Given the description of an element on the screen output the (x, y) to click on. 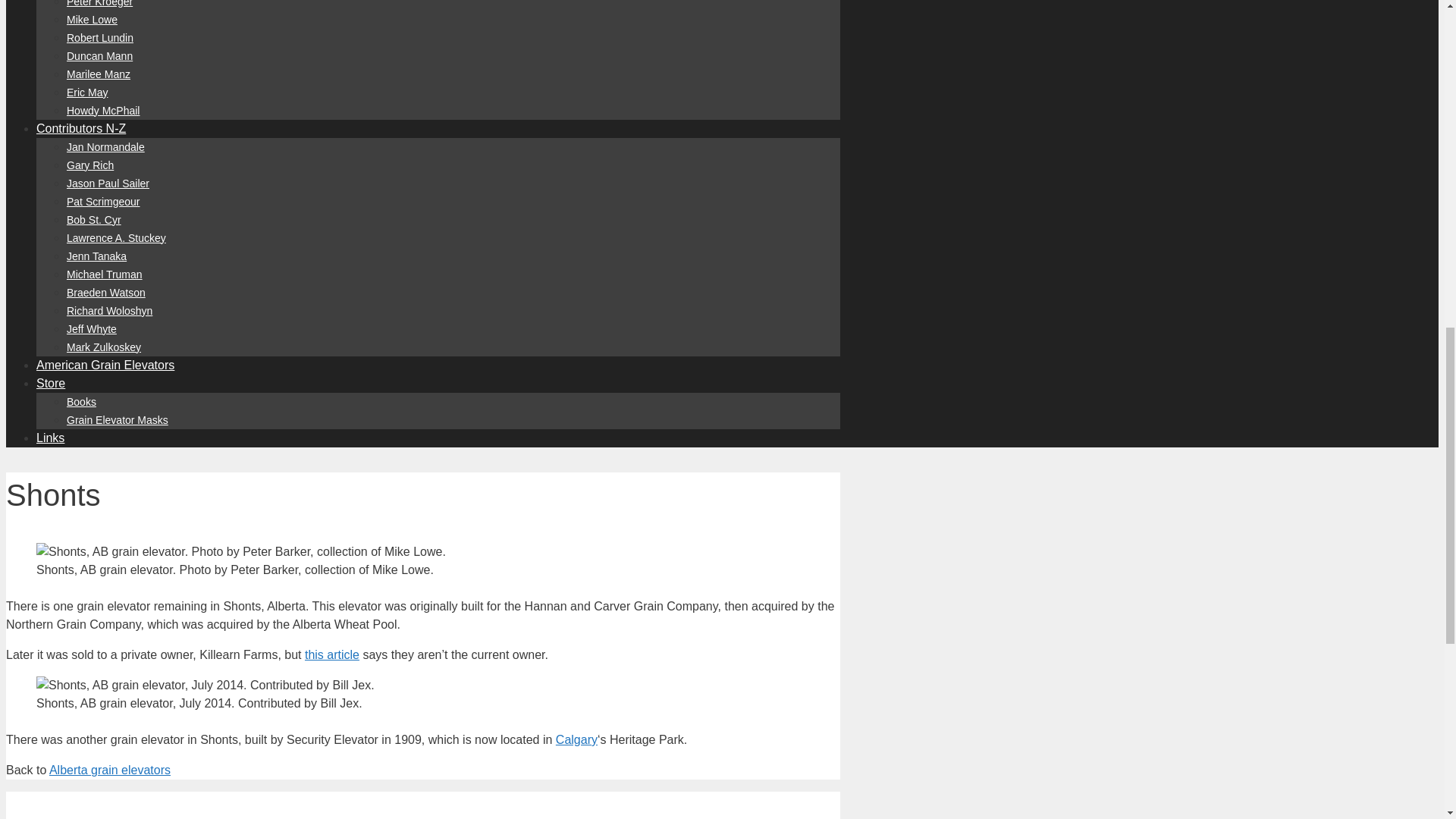
Howdy McPhail (102, 110)
Robert Lundin (99, 37)
Eric May (86, 92)
Duncan Mann (99, 55)
Mike Lowe (91, 19)
Peter Kroeger (99, 3)
Marilee Manz (98, 73)
